Given the description of an element on the screen output the (x, y) to click on. 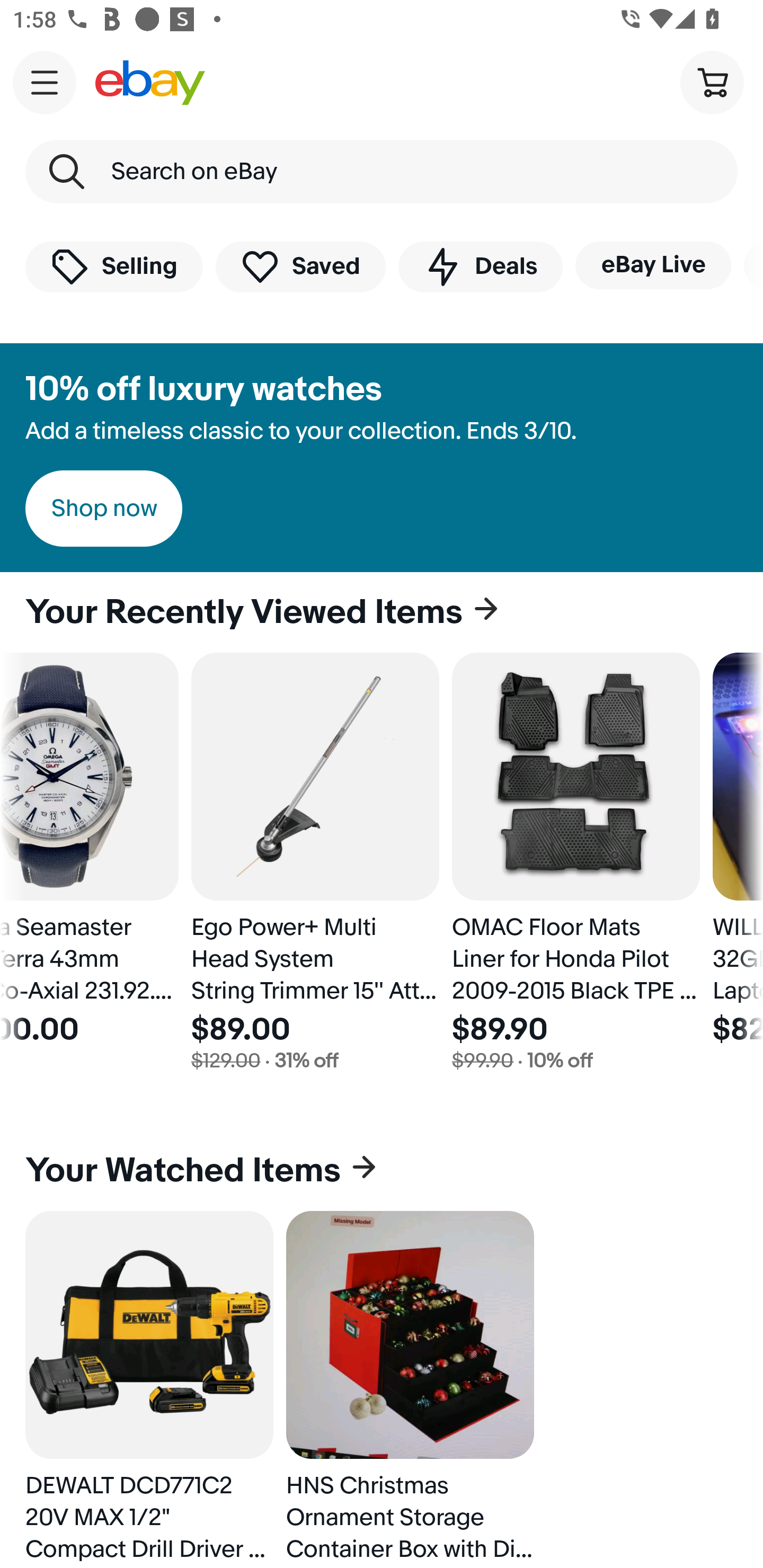
Main navigation, open (44, 82)
Cart button shopping cart (711, 81)
Search on eBay Search Keyword Search on eBay (381, 171)
Selling (113, 266)
Saved (300, 266)
Deals (480, 266)
eBay Live (652, 264)
10% off luxury watches (203, 389)
Shop now (103, 508)
Your Recently Viewed Items   (381, 612)
Your Watched Items   (381, 1170)
